Given the description of an element on the screen output the (x, y) to click on. 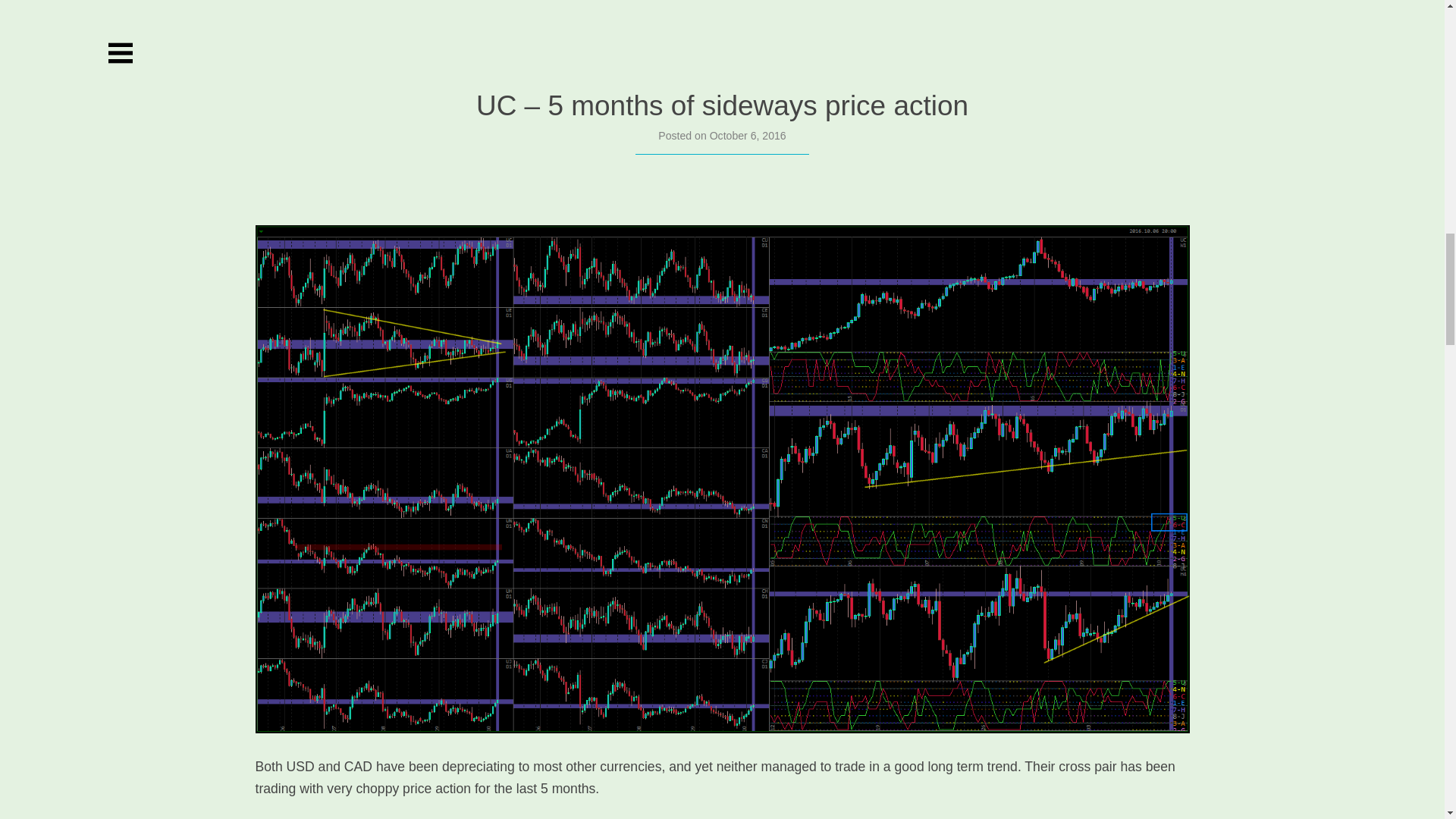
October 6, 2016 (748, 135)
